Given the description of an element on the screen output the (x, y) to click on. 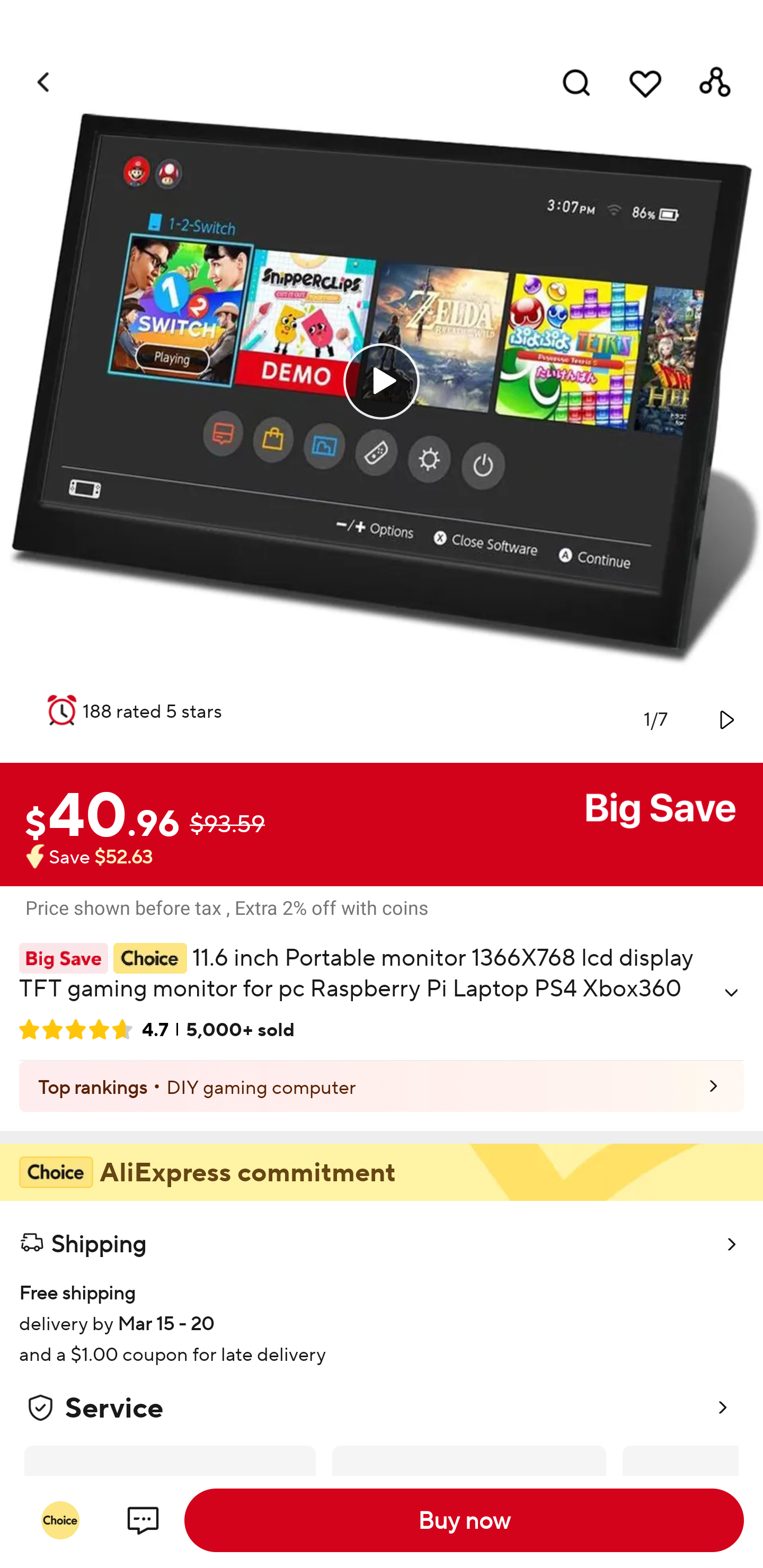
0.0 (381, 381)
Navigate up (44, 82)
 (724, 719)
 (730, 992)
Buy now (463, 1520)
